Given the description of an element on the screen output the (x, y) to click on. 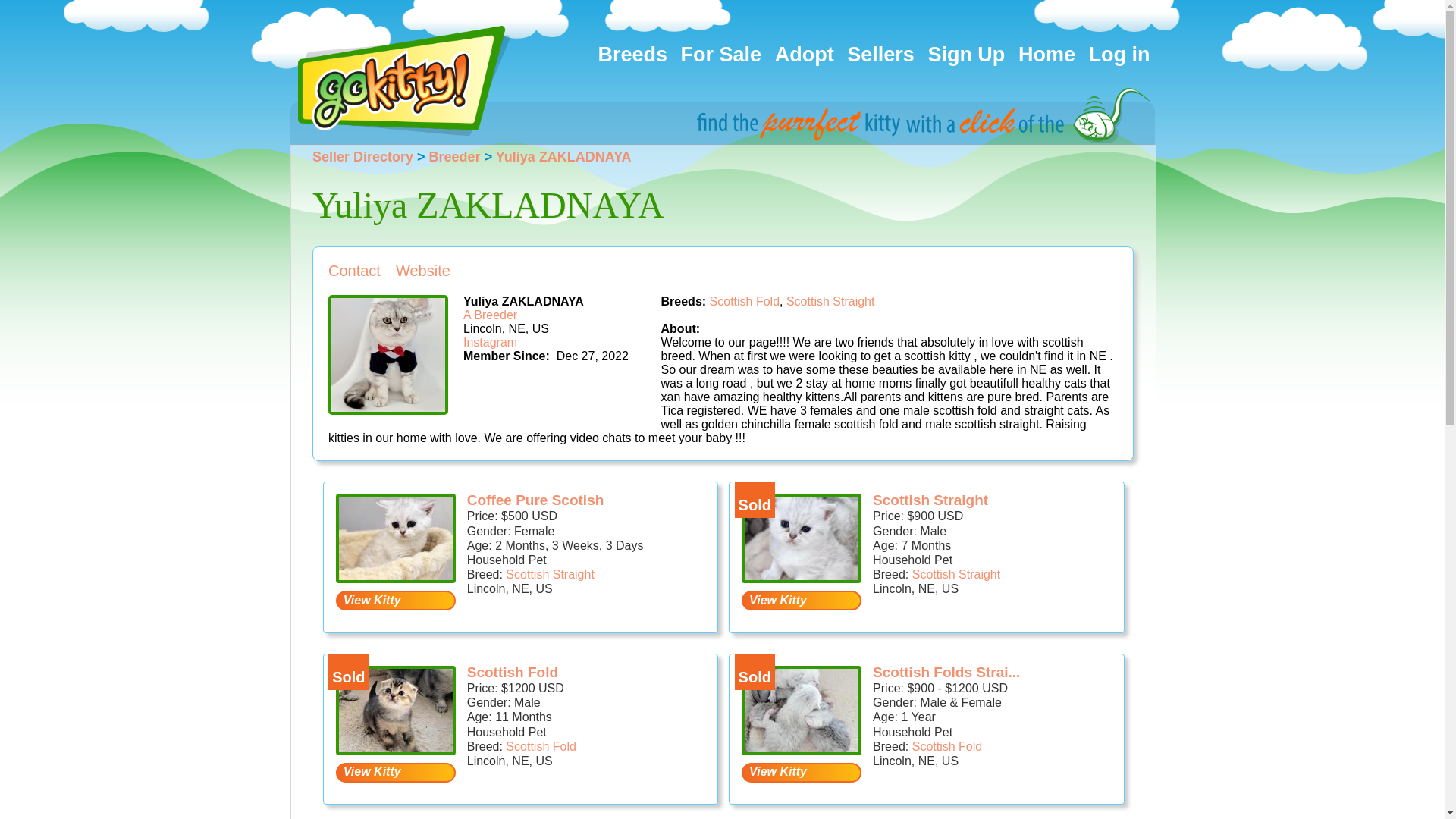
Scottish Straight (956, 574)
Log in (1119, 54)
Yuliya ZAKLADNAYA (563, 156)
Sellers (880, 54)
Scottish Straight (830, 300)
Home (1046, 54)
Scottish Fold (744, 300)
Scottish Folds Strai... (946, 672)
View Kitty (801, 600)
